Given the description of an element on the screen output the (x, y) to click on. 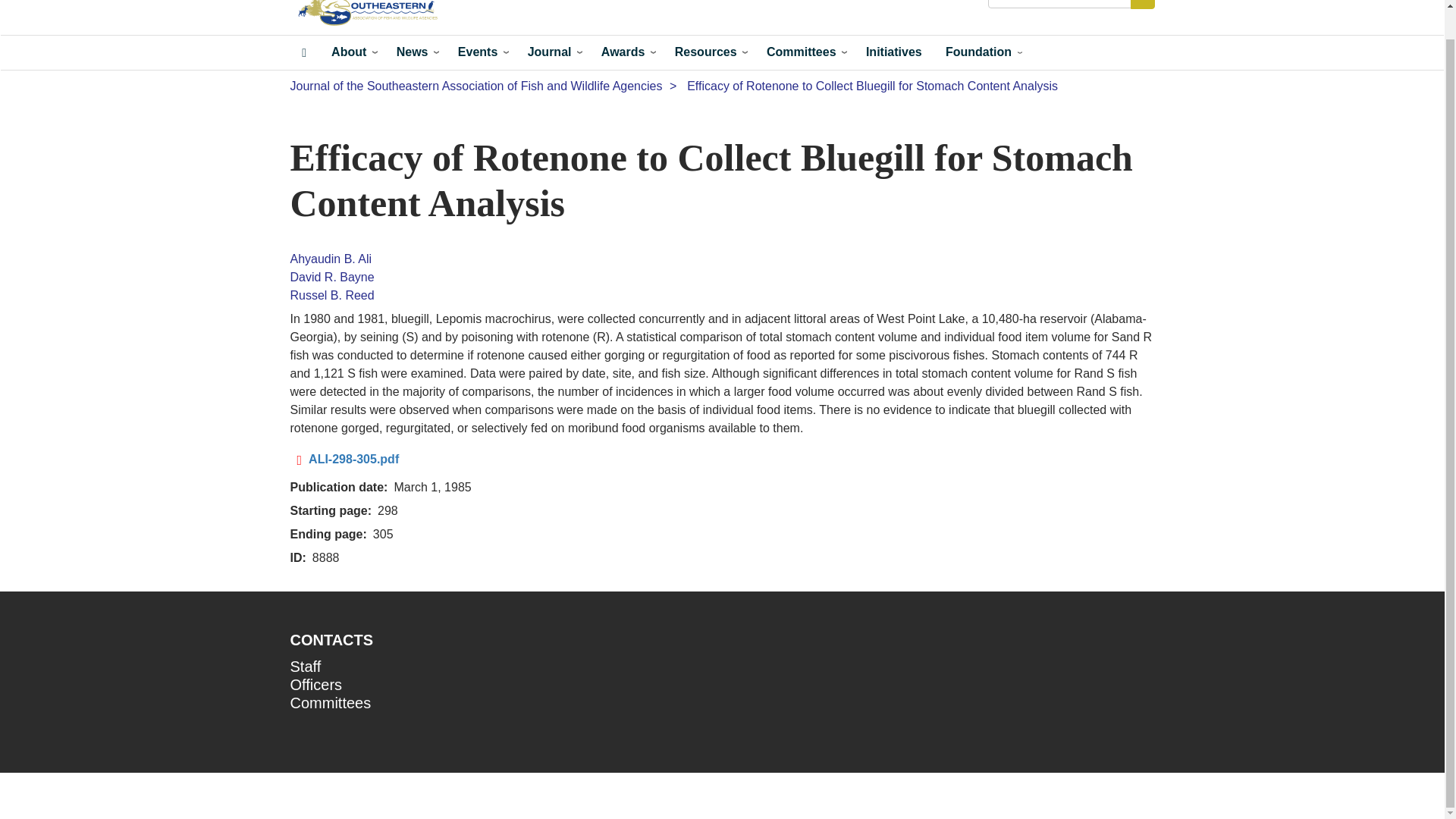
About (351, 52)
News (414, 52)
Events (480, 52)
Home (370, 14)
Search (1142, 4)
LOG IN (954, 6)
